Given the description of an element on the screen output the (x, y) to click on. 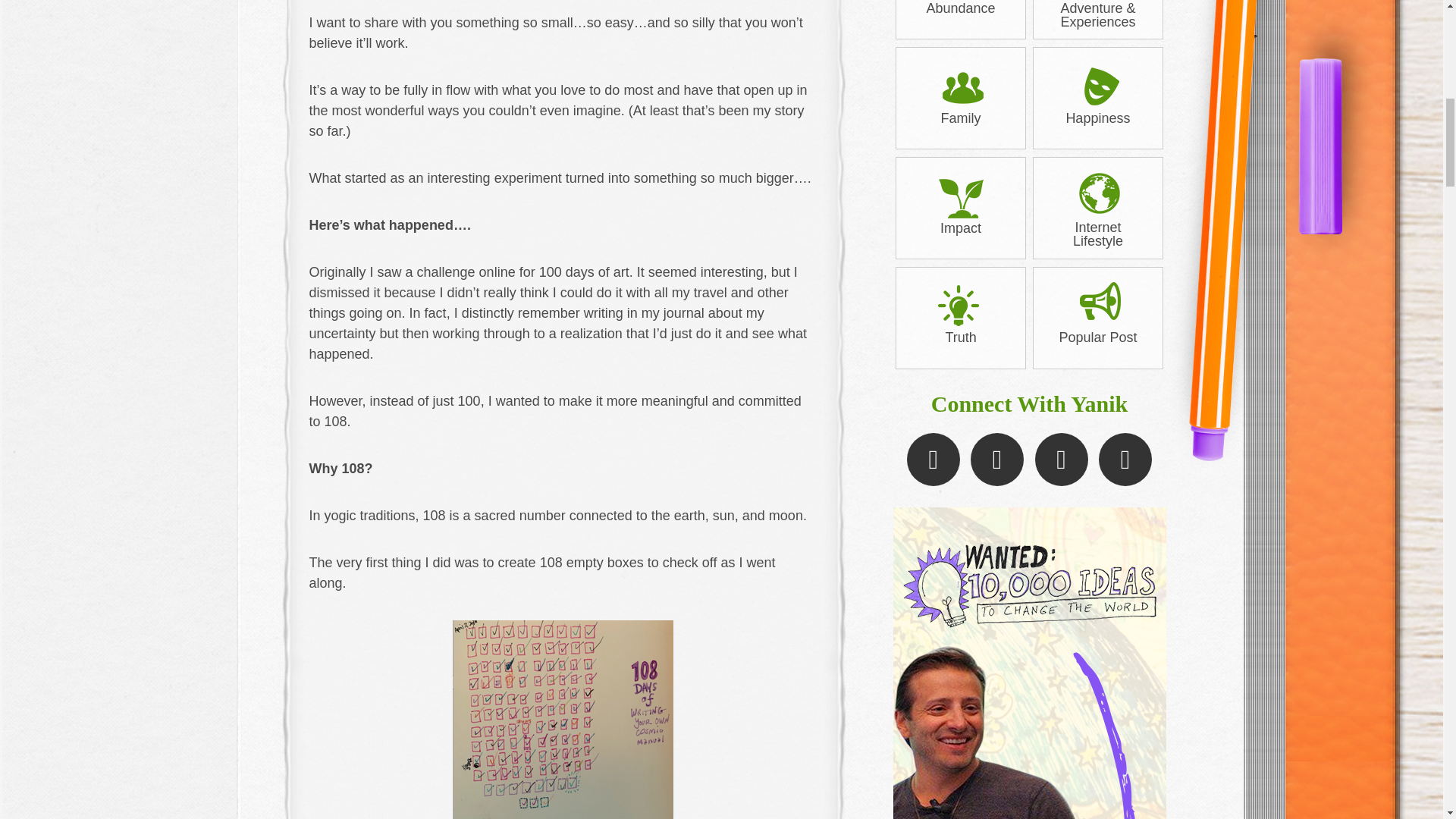
Impact (960, 203)
Happiness (1098, 93)
Truth (960, 312)
Popular Post (1098, 312)
Abundance (960, 7)
Family (960, 93)
Internet Lifestyle (1098, 209)
